Given the description of an element on the screen output the (x, y) to click on. 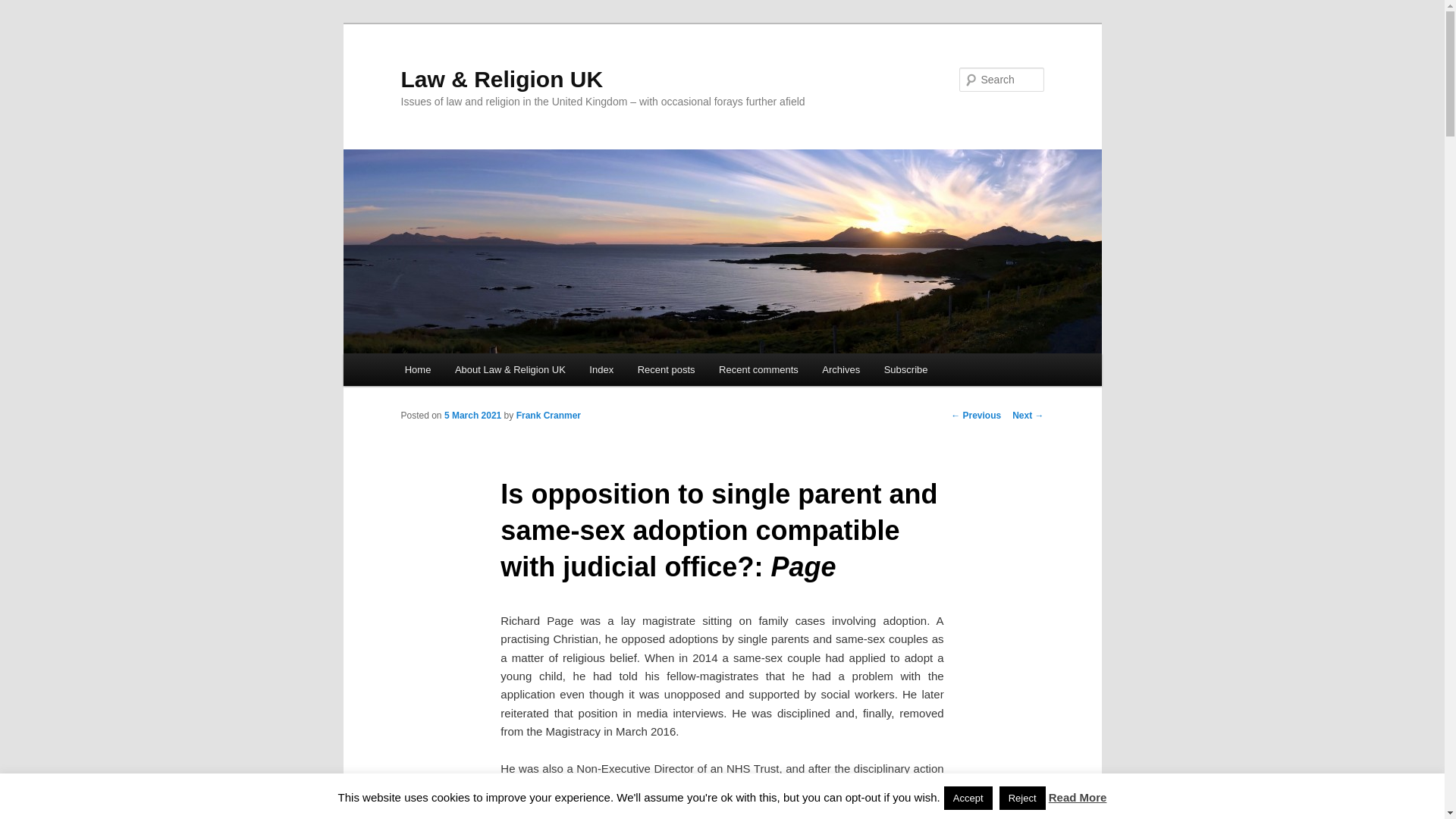
5 March 2021 (472, 415)
reported  (728, 786)
Search (24, 8)
Subscribe (905, 368)
Home (417, 368)
Frank Cranmer (548, 415)
Index (602, 368)
Recent comments (757, 368)
Recent posts (666, 368)
